Given the description of an element on the screen output the (x, y) to click on. 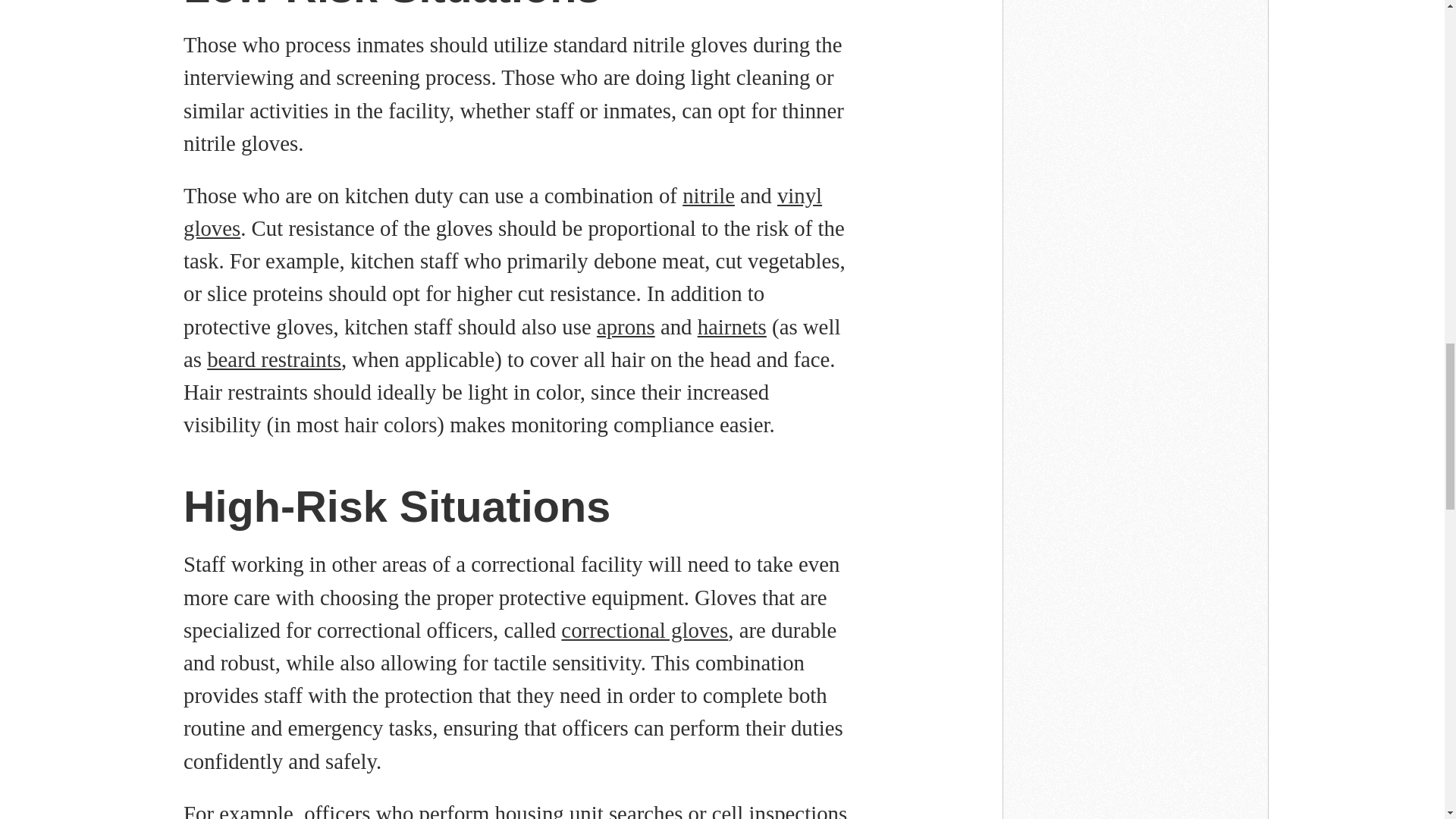
nitrile (708, 195)
correctional gloves (644, 630)
hairnets (732, 326)
vinyl gloves (502, 211)
aprons (625, 326)
beard restraints (273, 359)
